Given the description of an element on the screen output the (x, y) to click on. 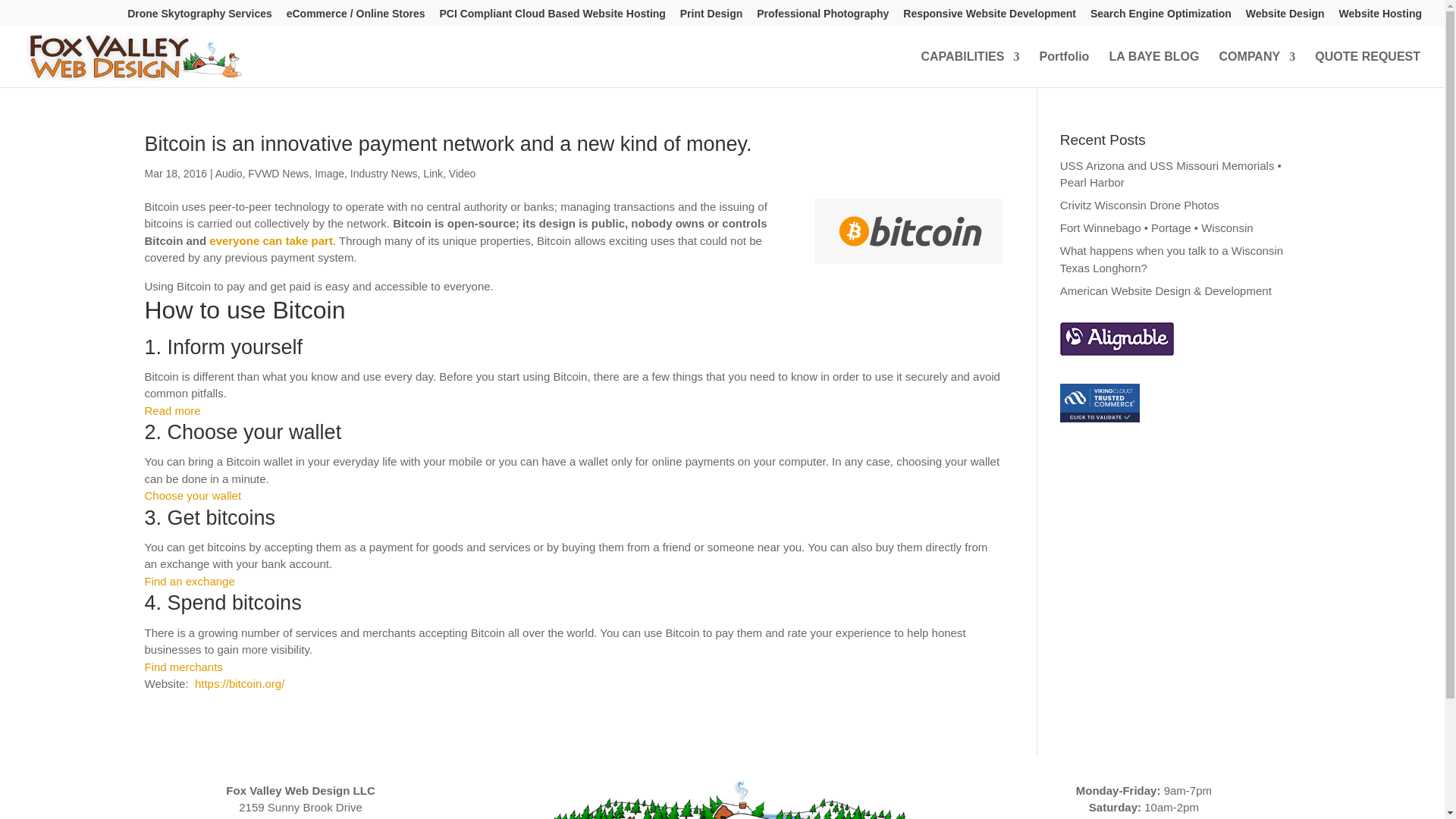
PCI Compliant Cloud Based Website Hosting (552, 16)
Website Hosting (1380, 16)
Portfolio (1064, 68)
Drone Skytography Services (200, 16)
Professional Photography (822, 16)
wisconsin-website-developers-fvwd-usa (721, 796)
Print Design (710, 16)
LA BAYE BLOG (1154, 68)
Website Design (1285, 16)
